Given the description of an element on the screen output the (x, y) to click on. 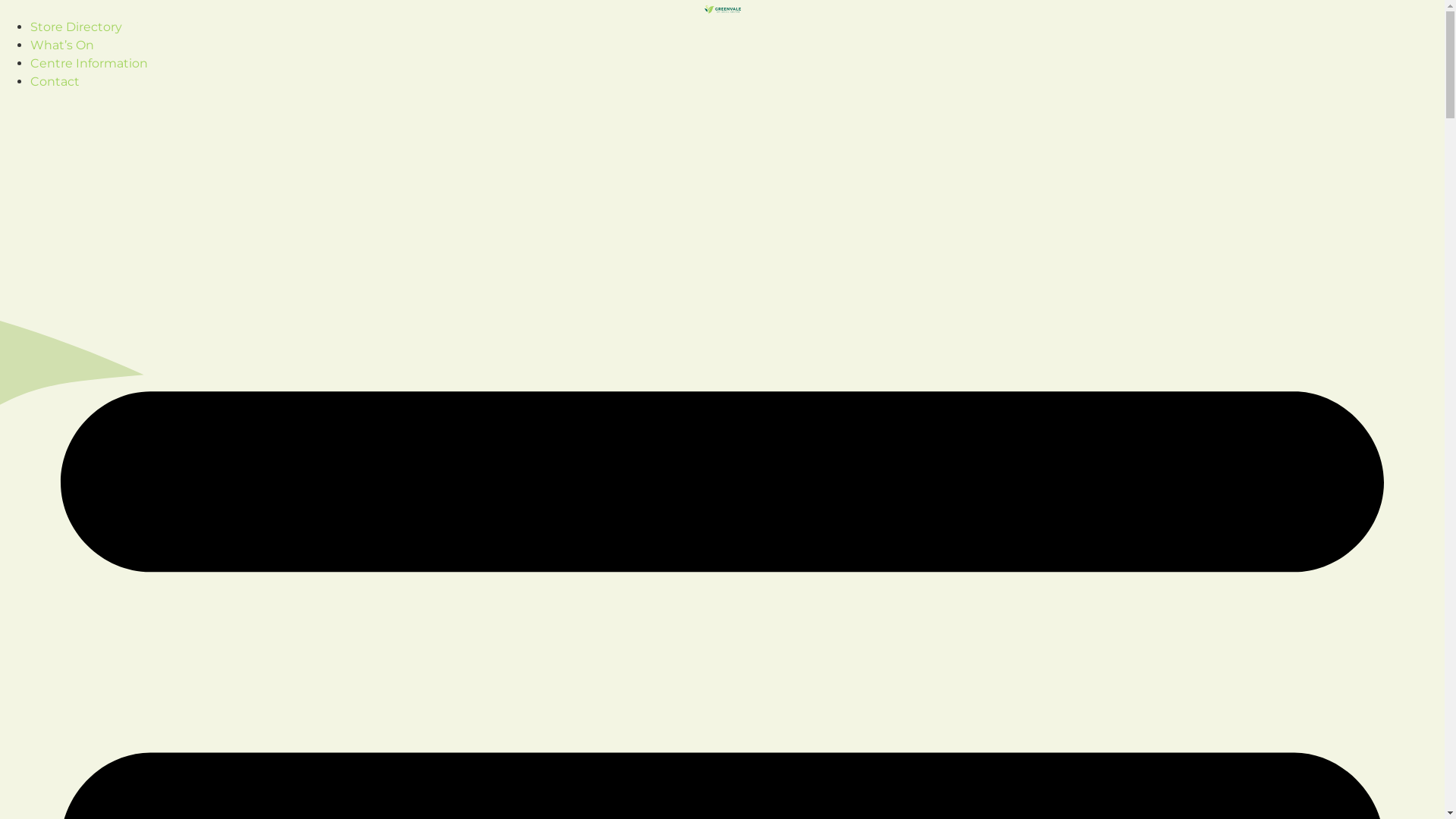
Contact Element type: text (54, 81)
Centre Information Element type: text (88, 63)
Store Directory Element type: text (76, 26)
